Given the description of an element on the screen output the (x, y) to click on. 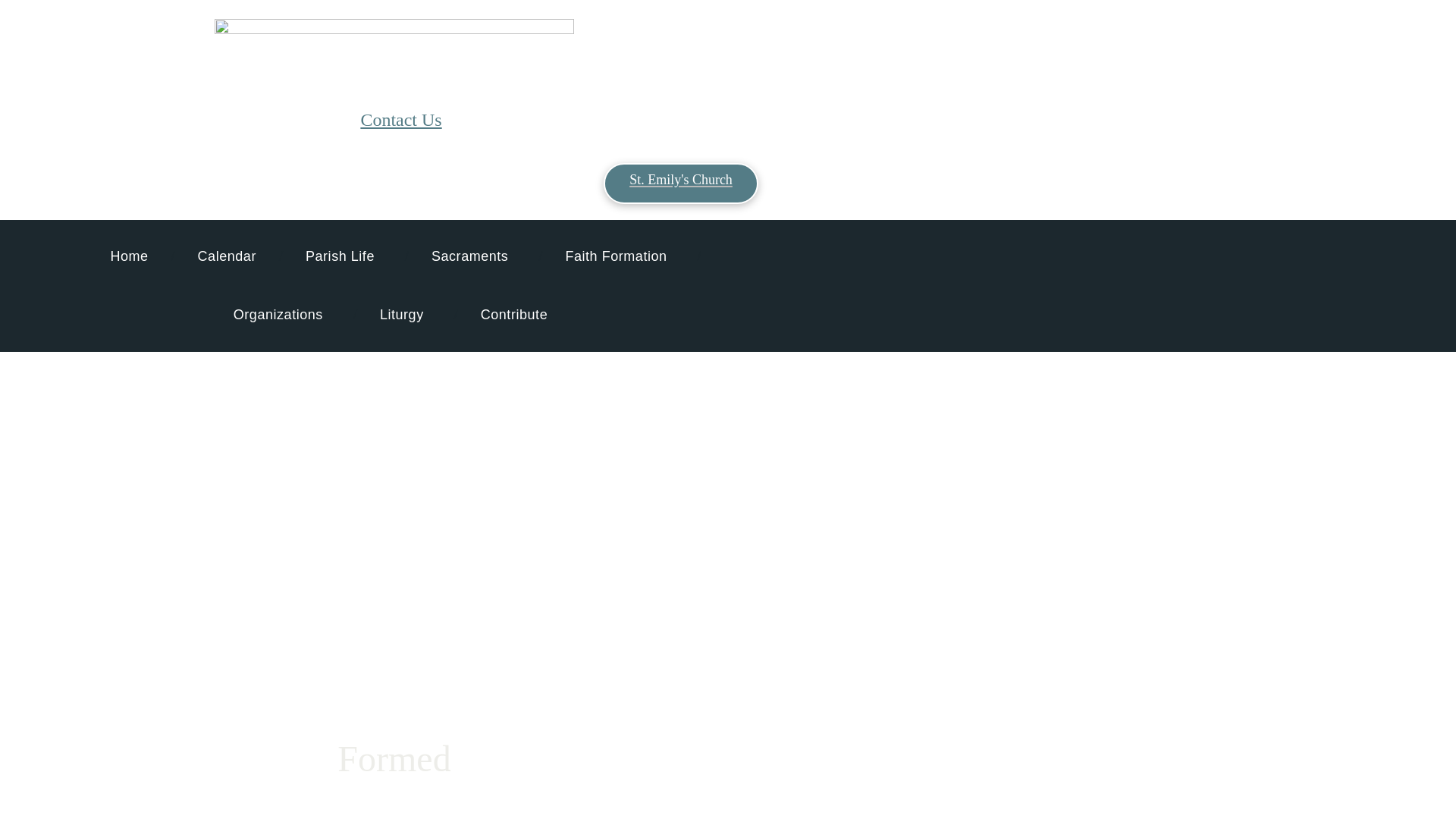
Sacraments (473, 256)
Parish Life (343, 256)
St. Emily's Church (681, 182)
Contact Us (400, 119)
Calendar (226, 256)
Liturgy (405, 314)
Organizations (282, 314)
Faith Formation (619, 256)
Home (128, 256)
